Given the description of an element on the screen output the (x, y) to click on. 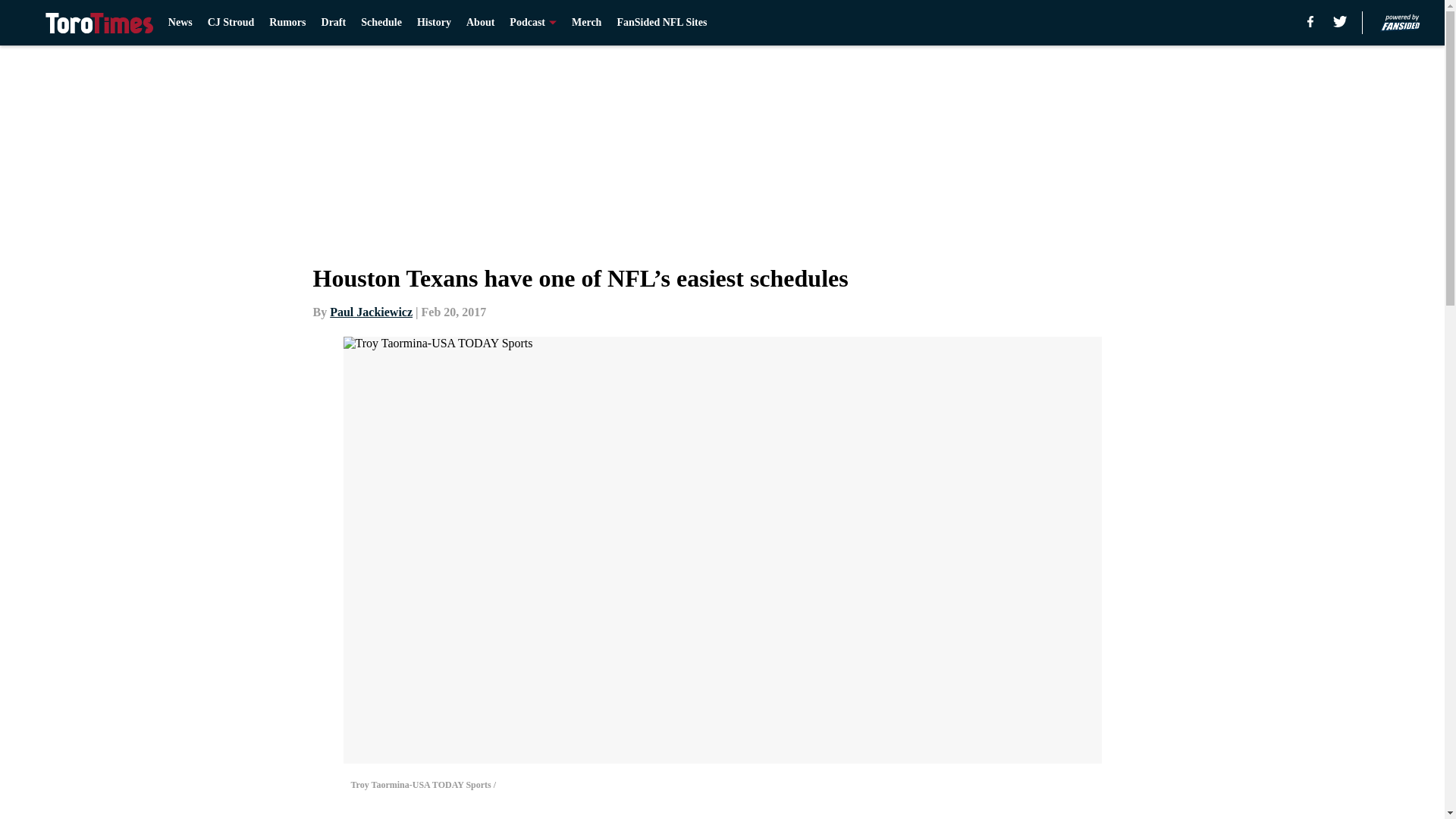
Rumors (287, 22)
History (433, 22)
About (480, 22)
News (180, 22)
FanSided NFL Sites (660, 22)
Draft (333, 22)
Paul Jackiewicz (371, 311)
Merch (586, 22)
Schedule (381, 22)
